Given the description of an element on the screen output the (x, y) to click on. 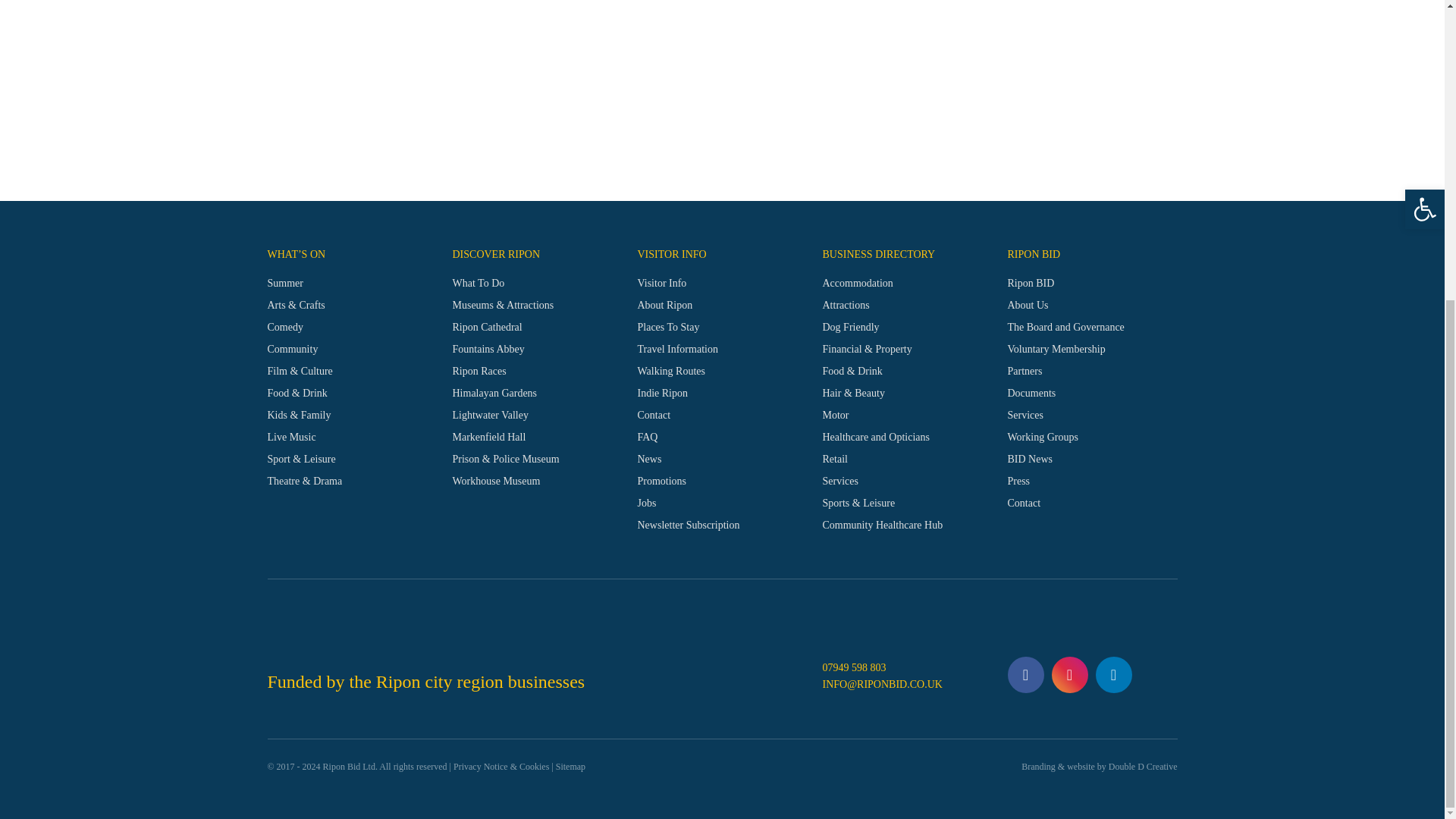
Facebook (1025, 674)
LinkedIn (1112, 674)
Instagram (1069, 674)
